Given the description of an element on the screen output the (x, y) to click on. 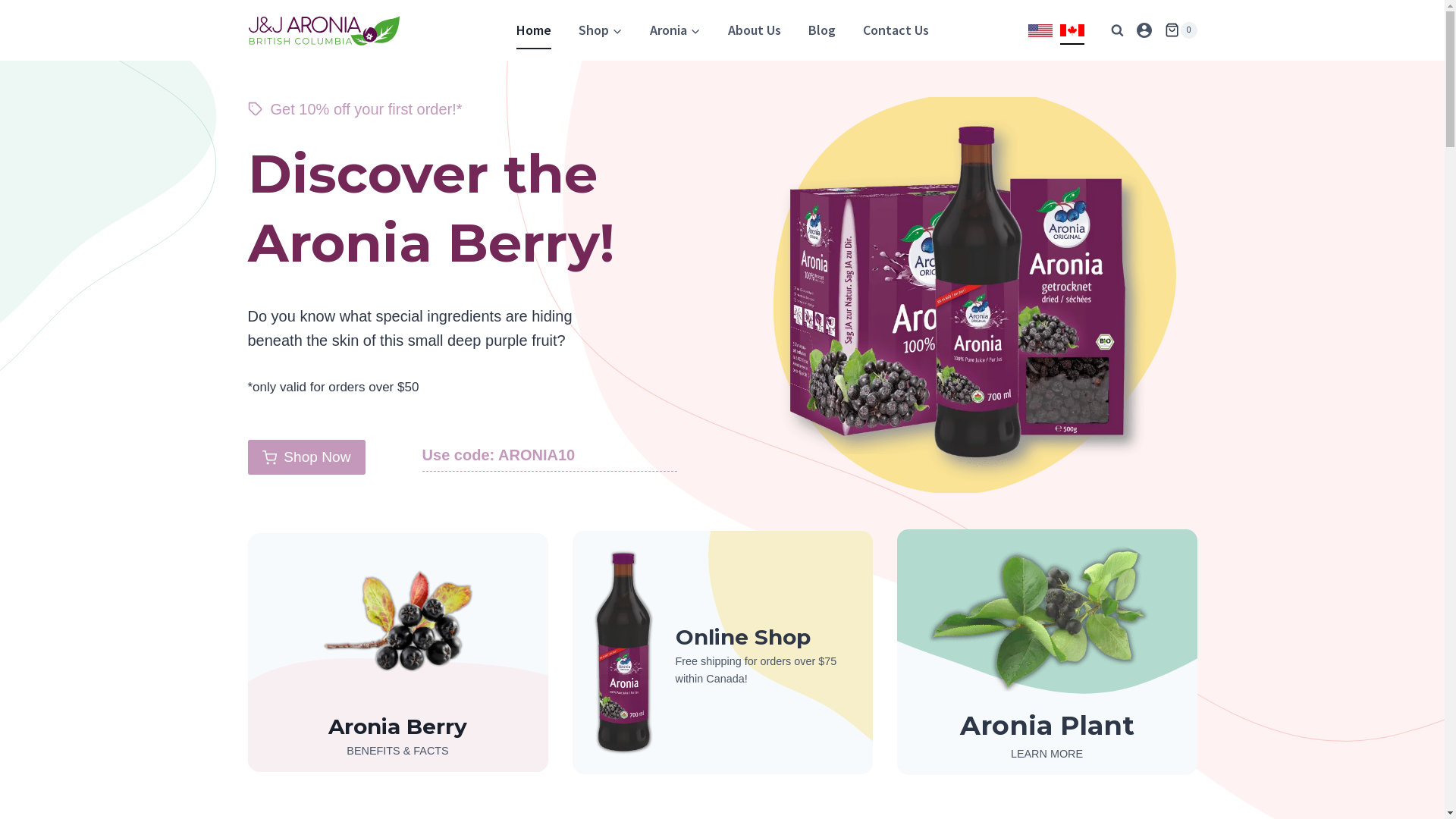
Aronia Element type: text (674, 30)
My Account Element type: hover (1144, 30)
Aronia Plant
LEARN MORE Element type: text (1046, 652)
Online Shop
Free shipping for orders over $75 within Canada! Element type: text (721, 652)
Canada Element type: hover (1072, 30)
Shop Element type: text (599, 30)
0 Element type: text (1180, 29)
Shop Now Element type: text (305, 456)
Home Element type: text (533, 30)
About Us Element type: text (754, 30)
Aronia Berry
BENEFITS & FACTS Element type: text (397, 651)
Blog Element type: text (821, 30)
United States Element type: hover (1040, 30)
Contact Us Element type: text (895, 30)
